Given the description of an element on the screen output the (x, y) to click on. 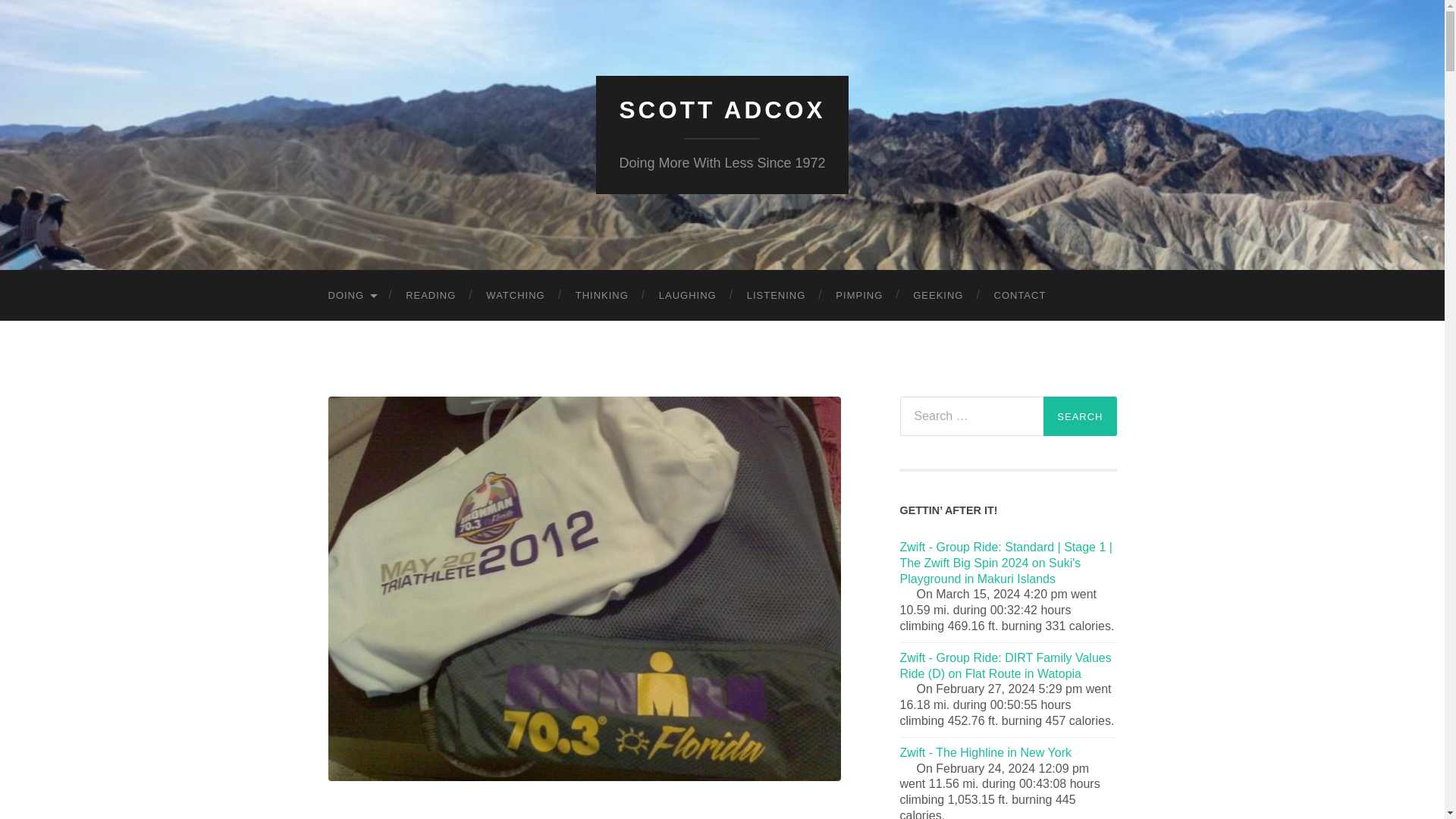
GEEKING (938, 295)
SCOTT ADCOX (721, 109)
PIMPING (859, 295)
LAUGHING (687, 295)
WATCHING (514, 295)
LISTENING (776, 295)
CONTACT (1019, 295)
DOING (351, 295)
Search (1079, 415)
READING (430, 295)
Search (1079, 415)
THINKING (601, 295)
